Given the description of an element on the screen output the (x, y) to click on. 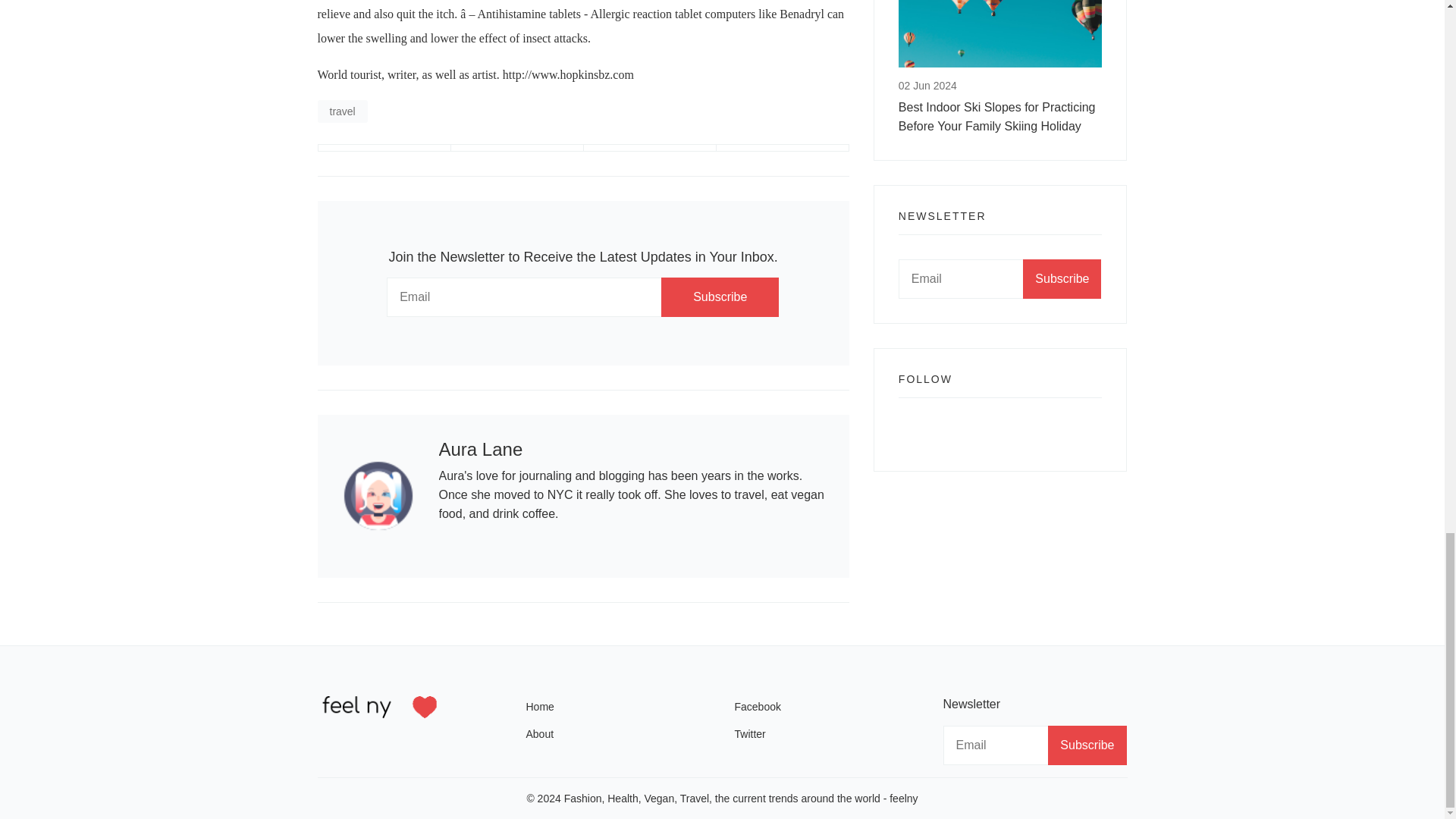
About (617, 733)
Subscribe (1061, 278)
Share on Pinterest (782, 147)
Subscribe (719, 296)
Subscribe (719, 296)
Subscribe (1086, 744)
Facebook (825, 706)
Home (611, 706)
Subscribe (1086, 744)
